Given the description of an element on the screen output the (x, y) to click on. 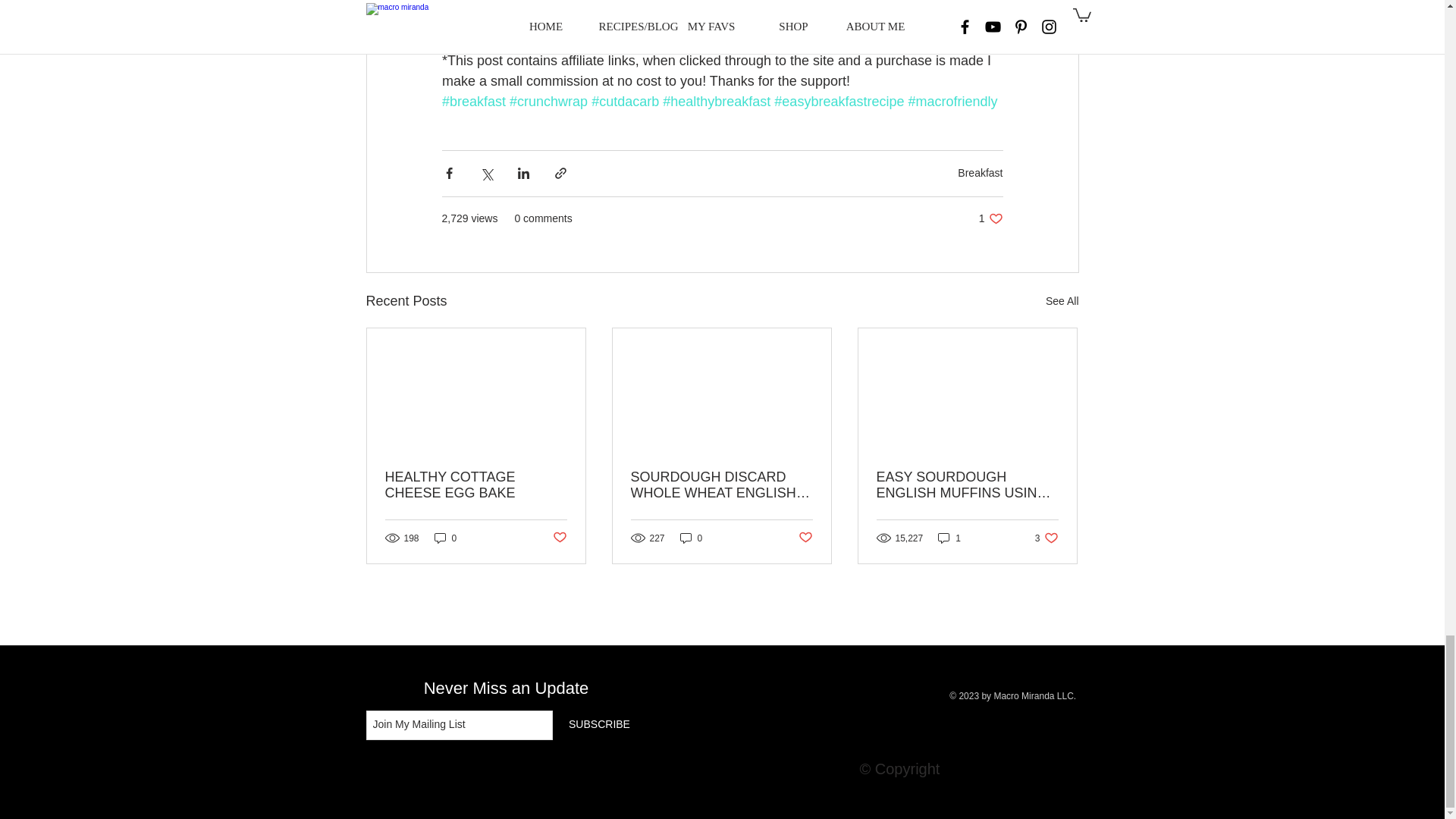
0 (990, 218)
HEALTHY COTTAGE CHEESE EGG BAKE (445, 537)
Breakfast (476, 485)
See All (980, 173)
